Given the description of an element on the screen output the (x, y) to click on. 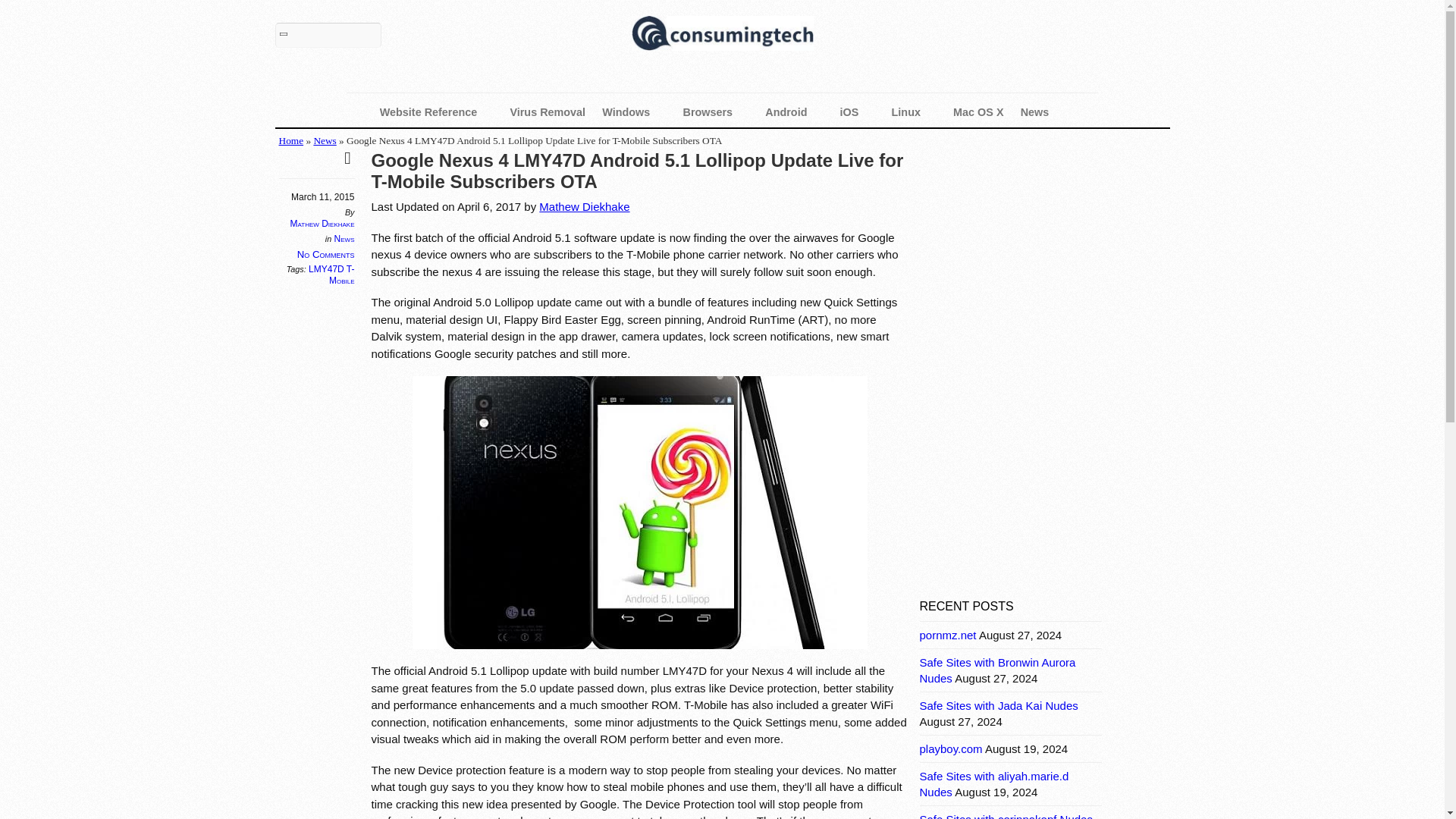
Mac OS X (978, 112)
No Comments (326, 254)
LMY47D T-Mobile (330, 274)
Mathew Diekhake (322, 223)
Advertisement (1032, 476)
Consuming Tech (721, 36)
Website Reference (436, 112)
Search (327, 34)
Android (794, 112)
News (1042, 112)
